Given the description of an element on the screen output the (x, y) to click on. 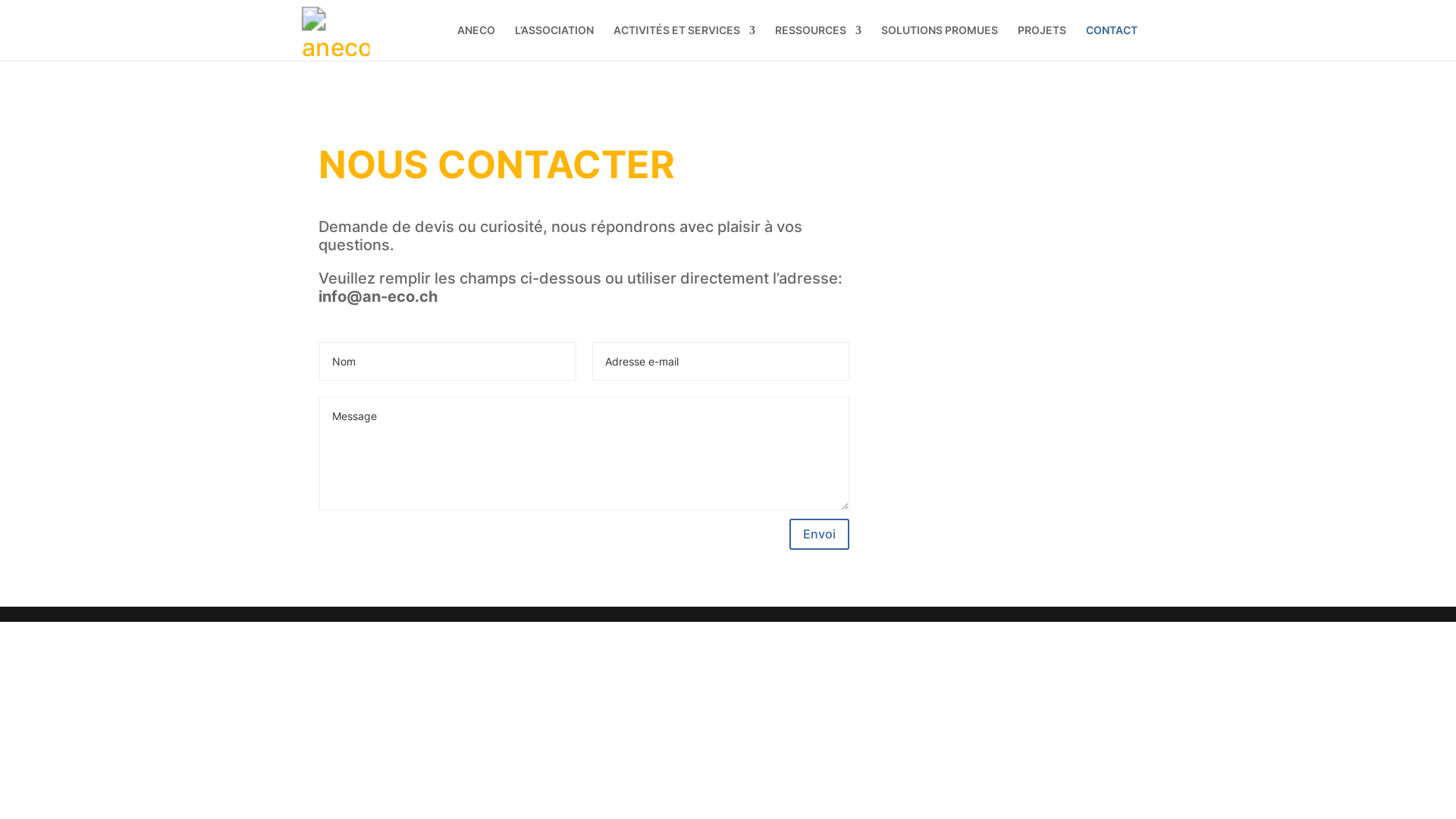
ANECO Element type: text (476, 42)
CONTACT Element type: text (1111, 42)
RESSOURCES Element type: text (818, 42)
PROJETS Element type: text (1041, 42)
Envoi Element type: text (819, 533)
SOLUTIONS PROMUES Element type: text (939, 42)
